Given the description of an element on the screen output the (x, y) to click on. 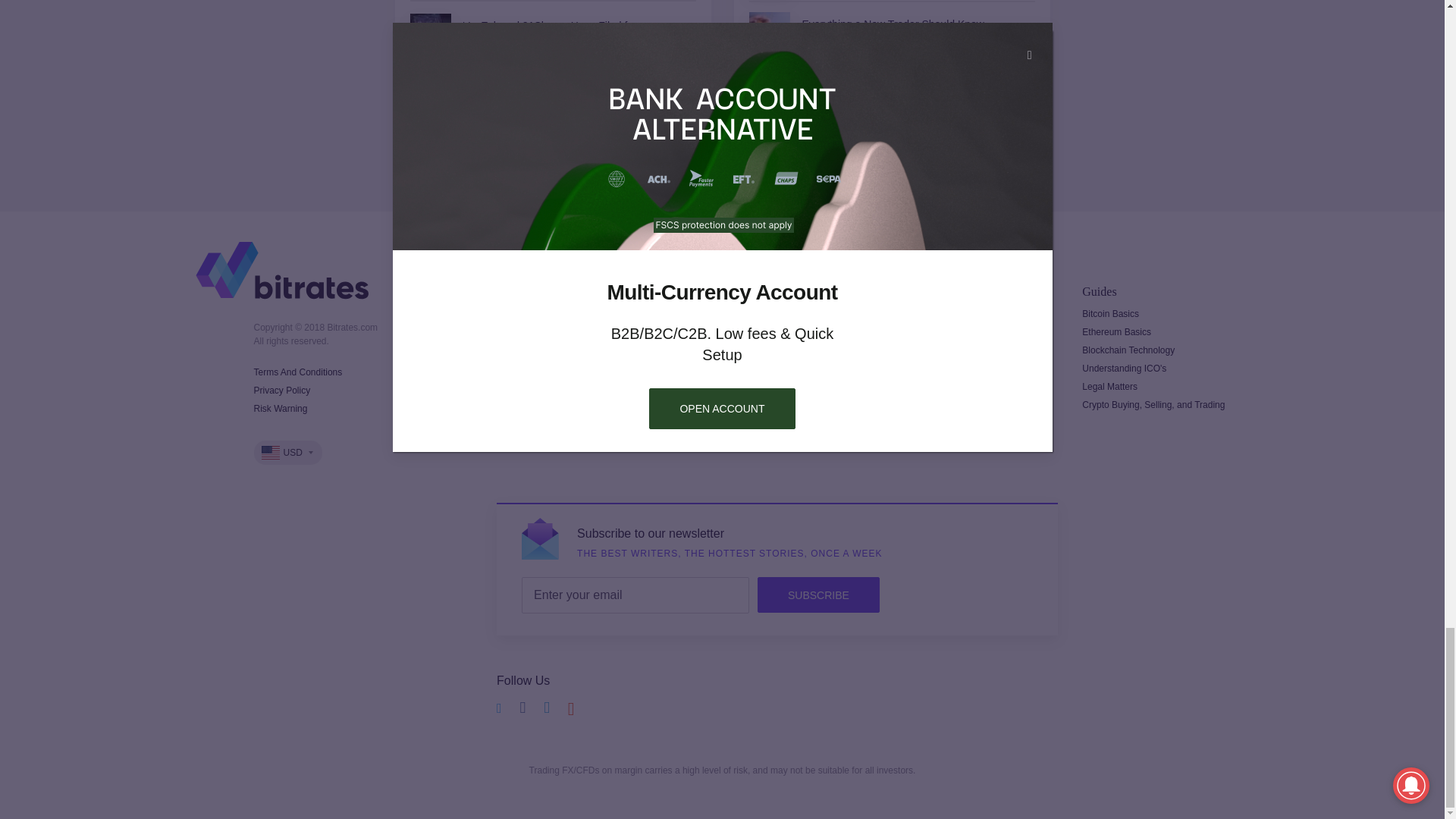
Sunday, June 16, 2024 (682, 89)
Wednesday, July 03, 2024 (685, 36)
Wednesday, June 26, 2024 (1021, 149)
SUBSCRIBE (818, 594)
Friday, June 28, 2024 (1021, 87)
Friday, June 28, 2024 (1021, 26)
Thursday, May 30, 2024 (682, 150)
